Given the description of an element on the screen output the (x, y) to click on. 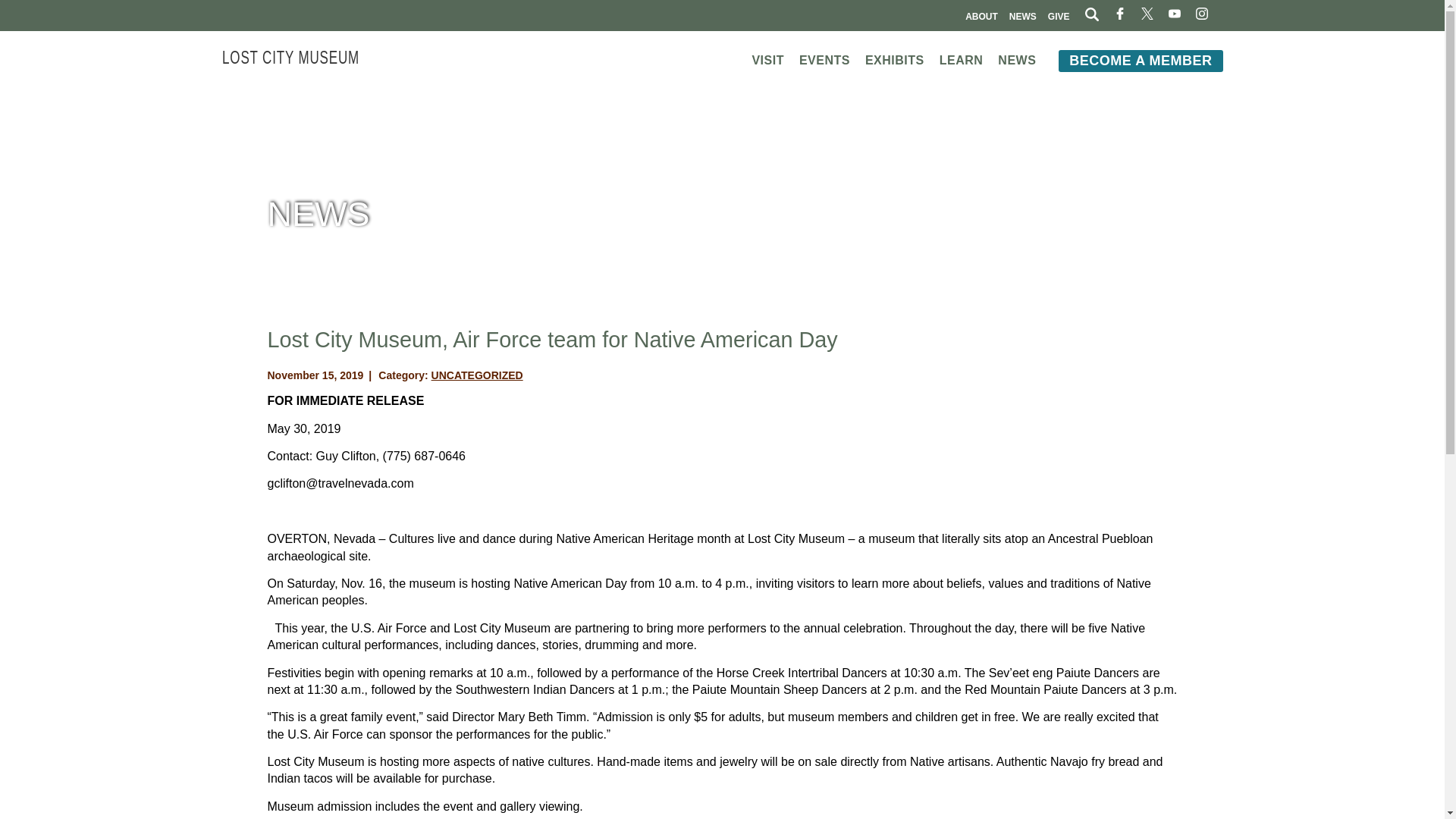
GIVE (1059, 15)
LOST CITY MUSEUM (289, 53)
BECOME A MEMBER (1140, 60)
UNCATEGORIZED (476, 375)
EXHIBITS (894, 60)
ABOUT (981, 15)
LEARN (961, 60)
NEWS (1016, 60)
EVENTS (824, 60)
VISIT (767, 60)
